Given the description of an element on the screen output the (x, y) to click on. 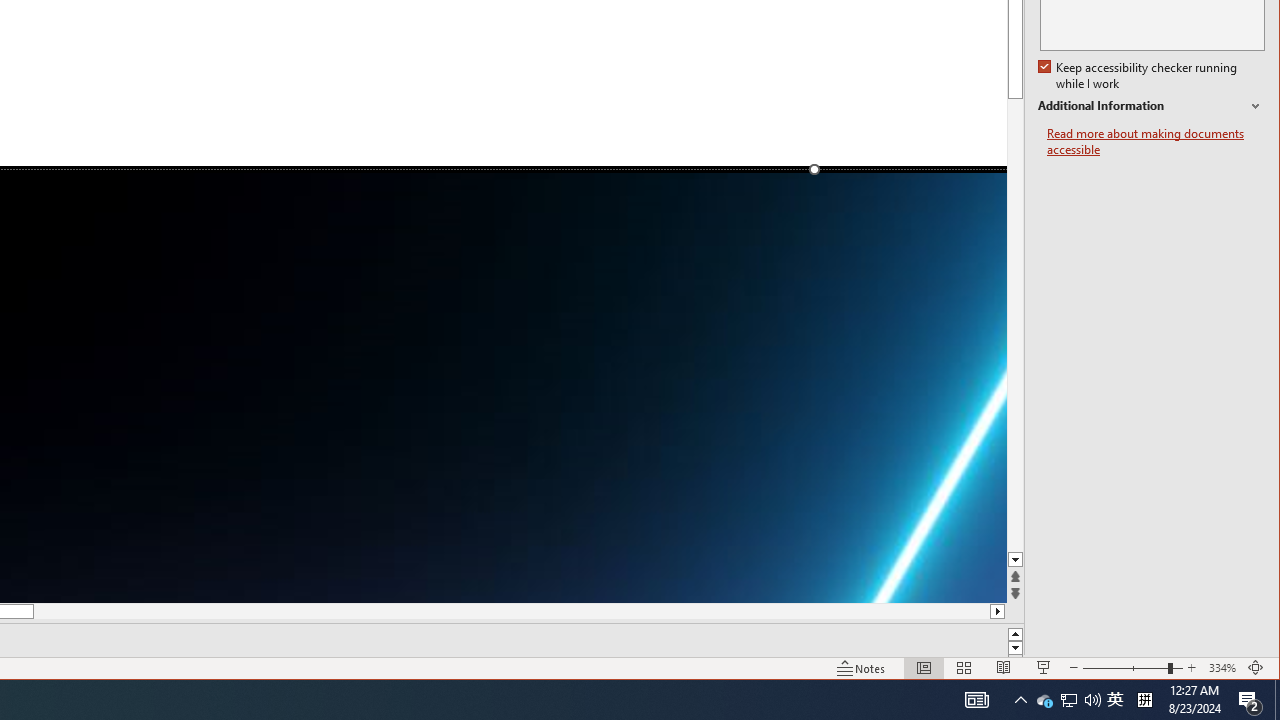
Action Center, 2 new notifications (1044, 699)
Keep accessibility checker running while I work (1250, 699)
